Given the description of an element on the screen output the (x, y) to click on. 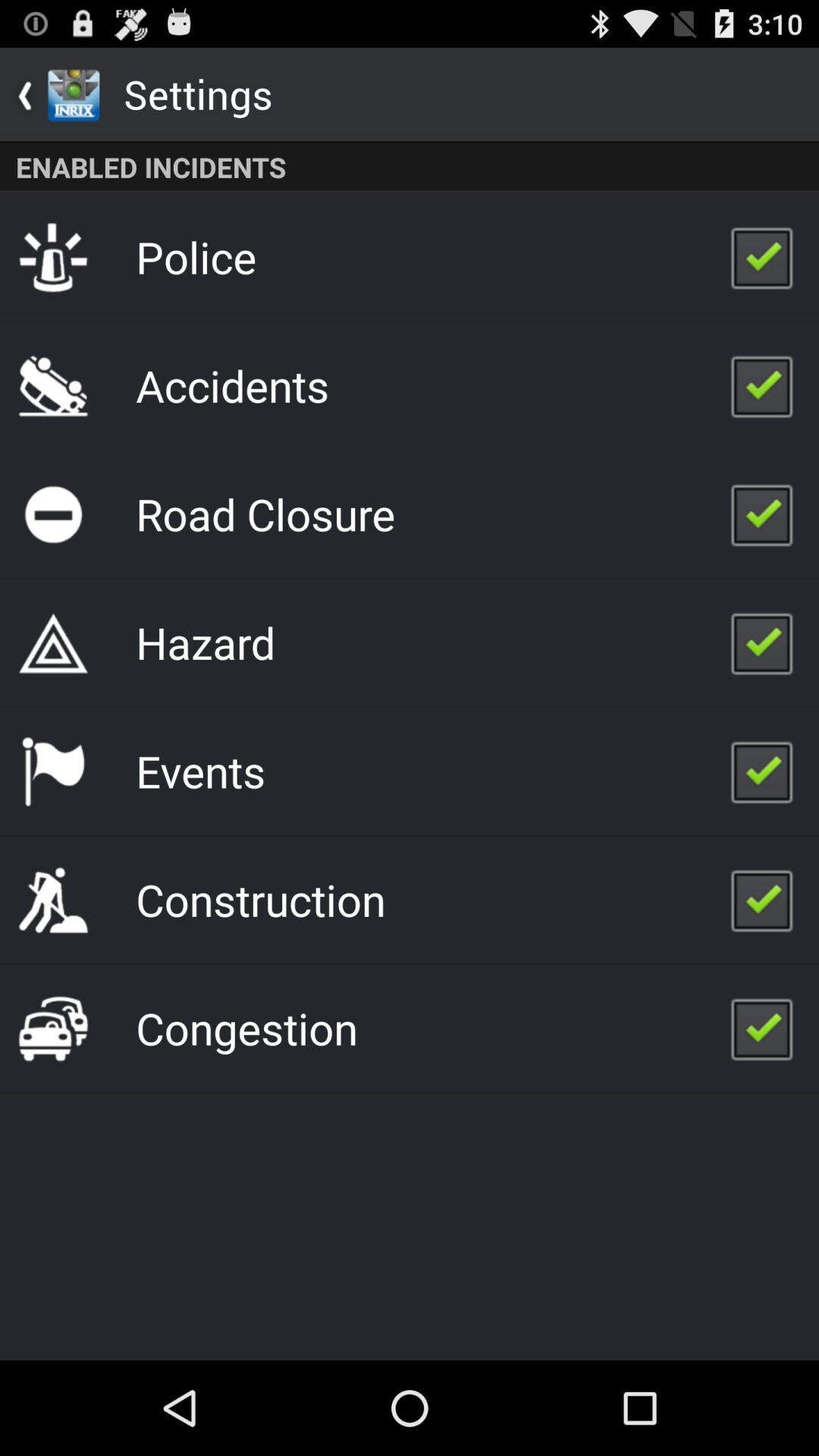
launch the events (200, 770)
